Given the description of an element on the screen output the (x, y) to click on. 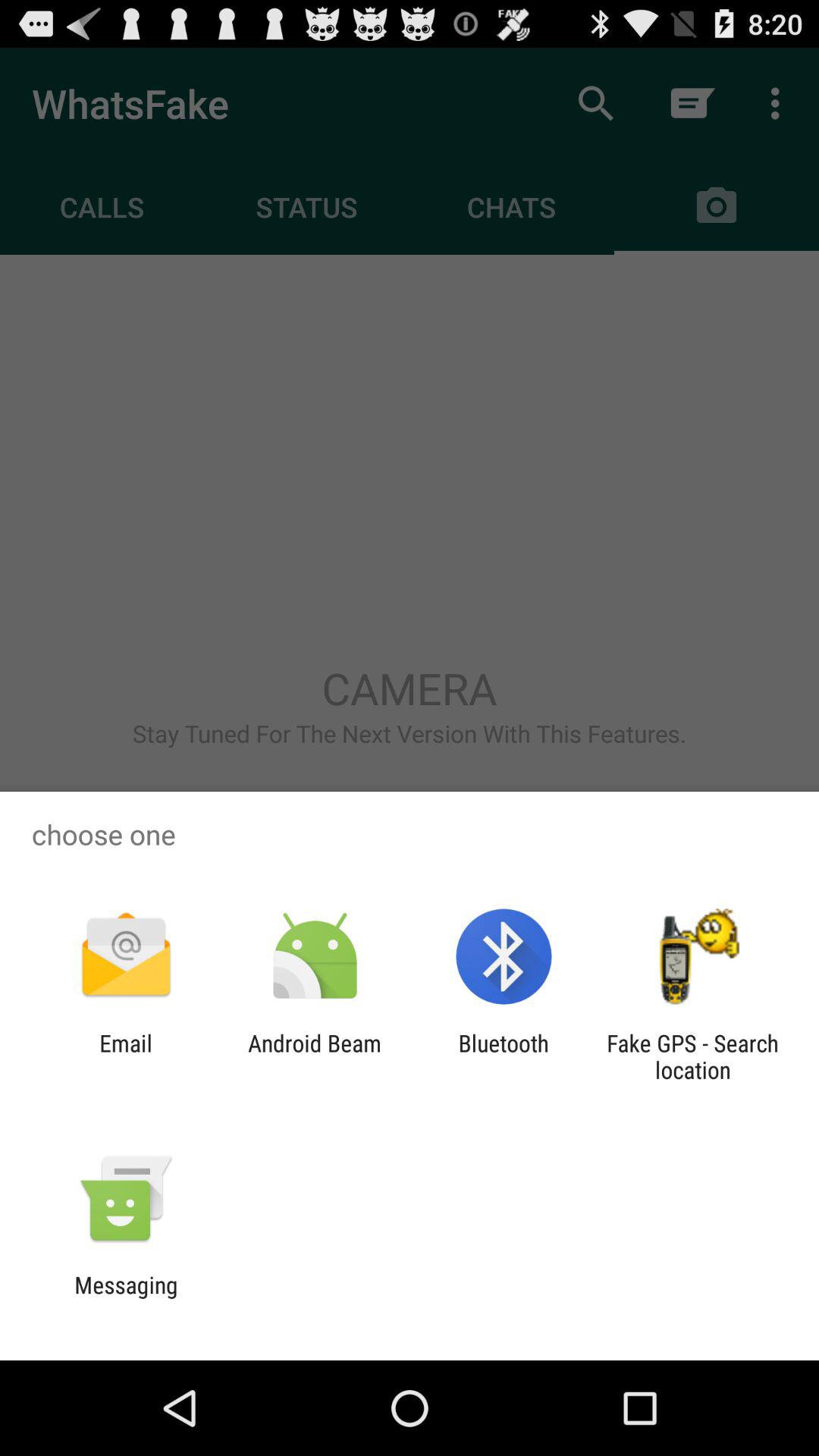
click app to the right of the bluetooth icon (692, 1056)
